Given the description of an element on the screen output the (x, y) to click on. 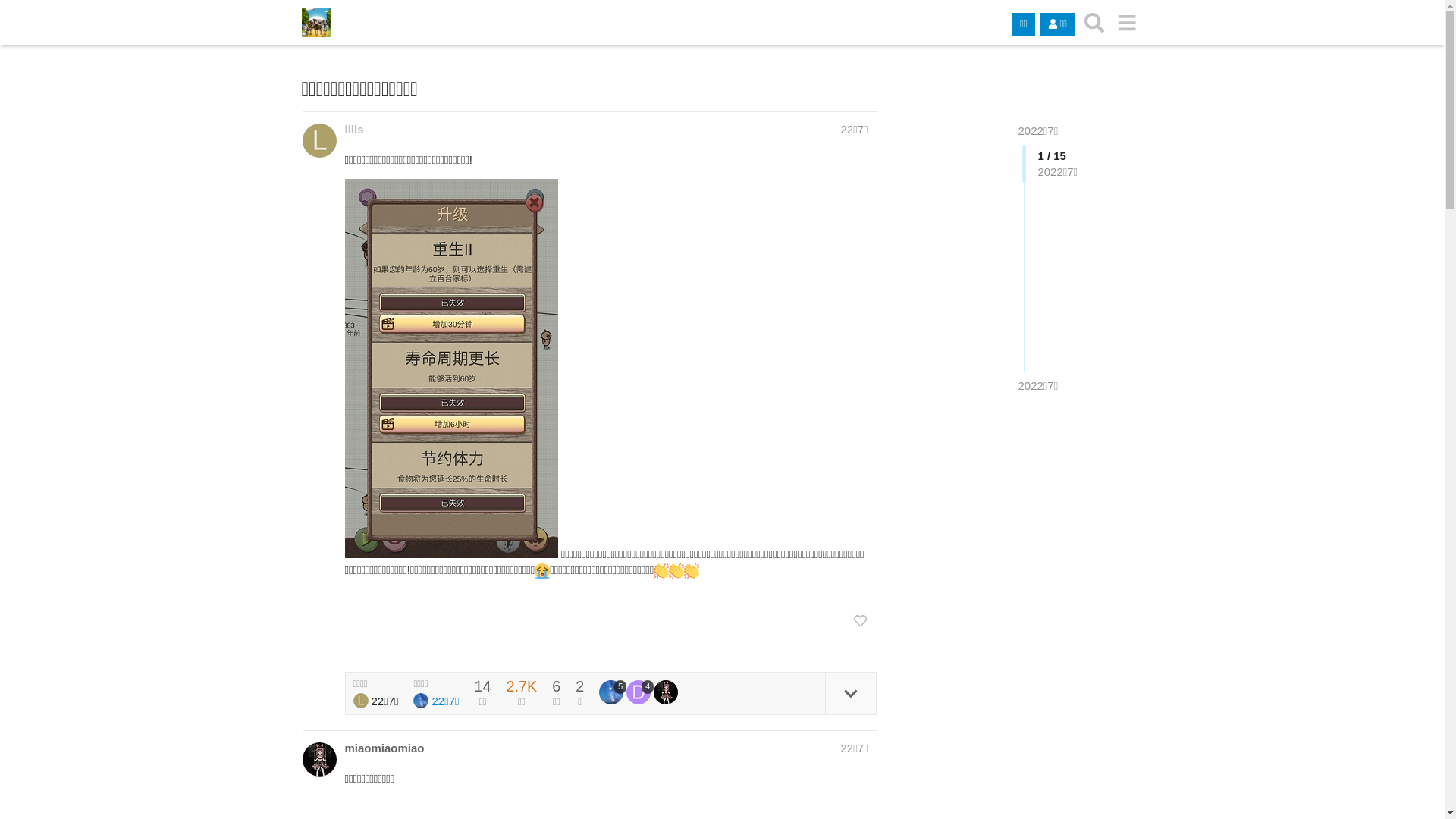
Screenshot_20220726-192516.jpg Element type: hover (450, 368)
:clap: Element type: hover (660, 570)
:sob: Element type: hover (541, 570)
A Element type: hover (318, 759)
:clap: Element type: hover (691, 570)
A Element type: hover (665, 692)
lllls Element type: text (353, 129)
miaomiaomiao Element type: text (383, 748)
:clap: Element type: hover (676, 570)
